Given the description of an element on the screen output the (x, y) to click on. 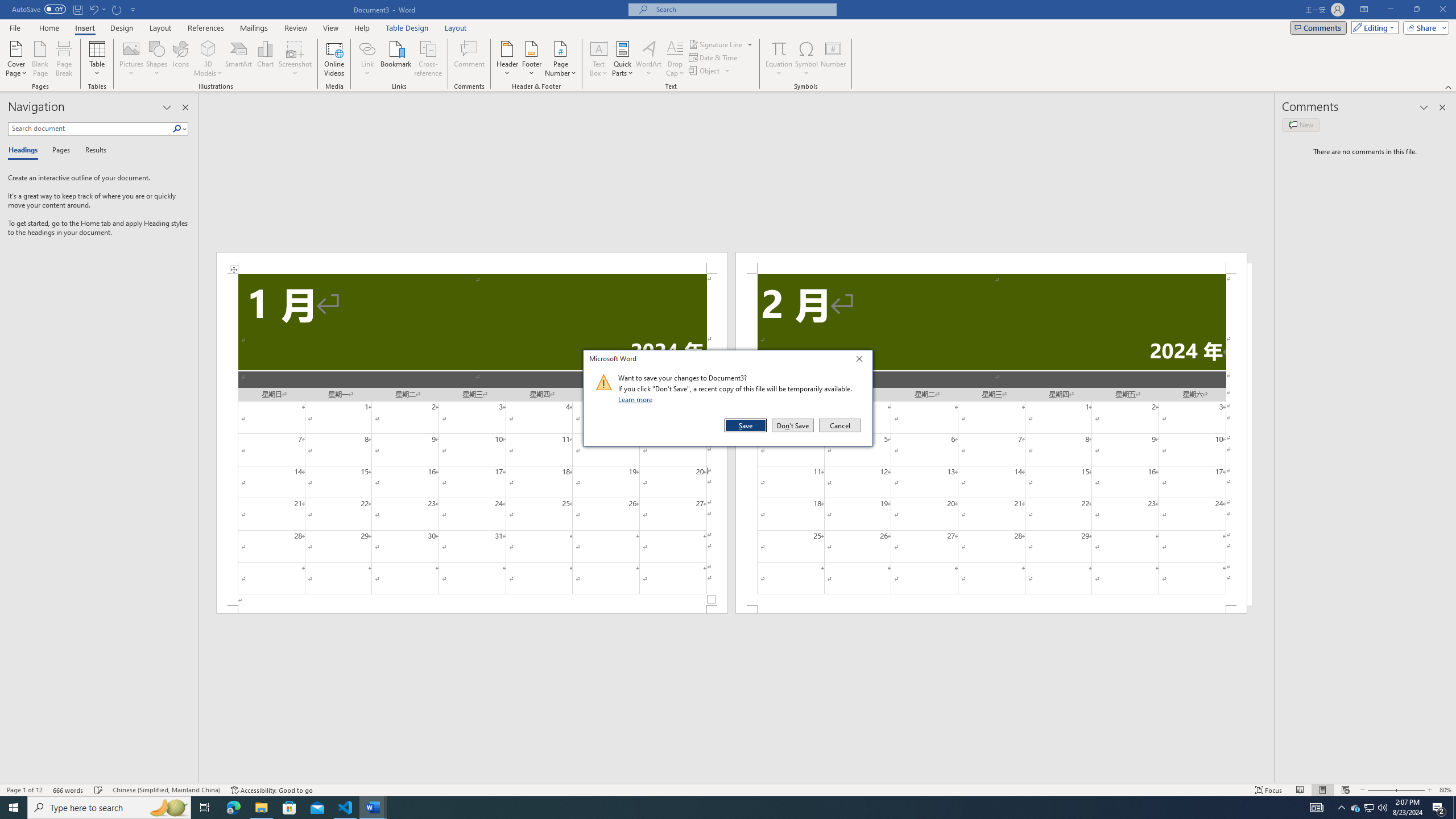
Visual Studio Code - 1 running window (345, 807)
3D Models (208, 48)
3D Models (208, 58)
Signature Line (721, 44)
Save (746, 425)
Date & Time... (714, 56)
Number... (833, 58)
Cancel (839, 425)
Close pane (185, 107)
Page Number (560, 58)
Microsoft Edge (233, 807)
Insert (83, 28)
Online Videos... (333, 58)
